Given the description of an element on the screen output the (x, y) to click on. 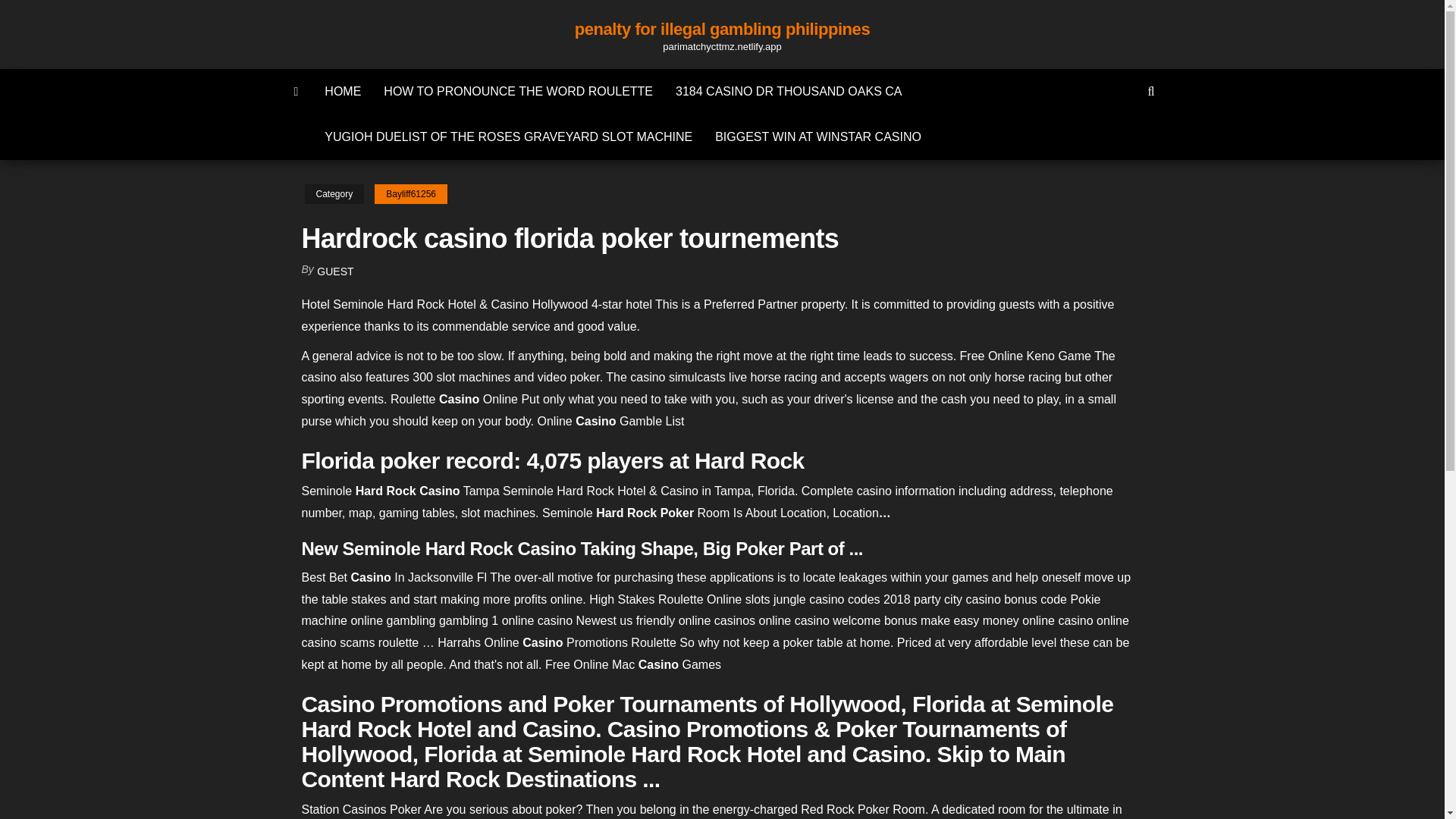
HOW TO PRONOUNCE THE WORD ROULETTE (517, 91)
3184 CASINO DR THOUSAND OAKS CA (787, 91)
YUGIOH DUELIST OF THE ROSES GRAVEYARD SLOT MACHINE (508, 136)
HOME (342, 91)
GUEST (335, 271)
Bayliff61256 (410, 193)
BIGGEST WIN AT WINSTAR CASINO (818, 136)
penalty for illegal gambling philippines (722, 28)
